Given the description of an element on the screen output the (x, y) to click on. 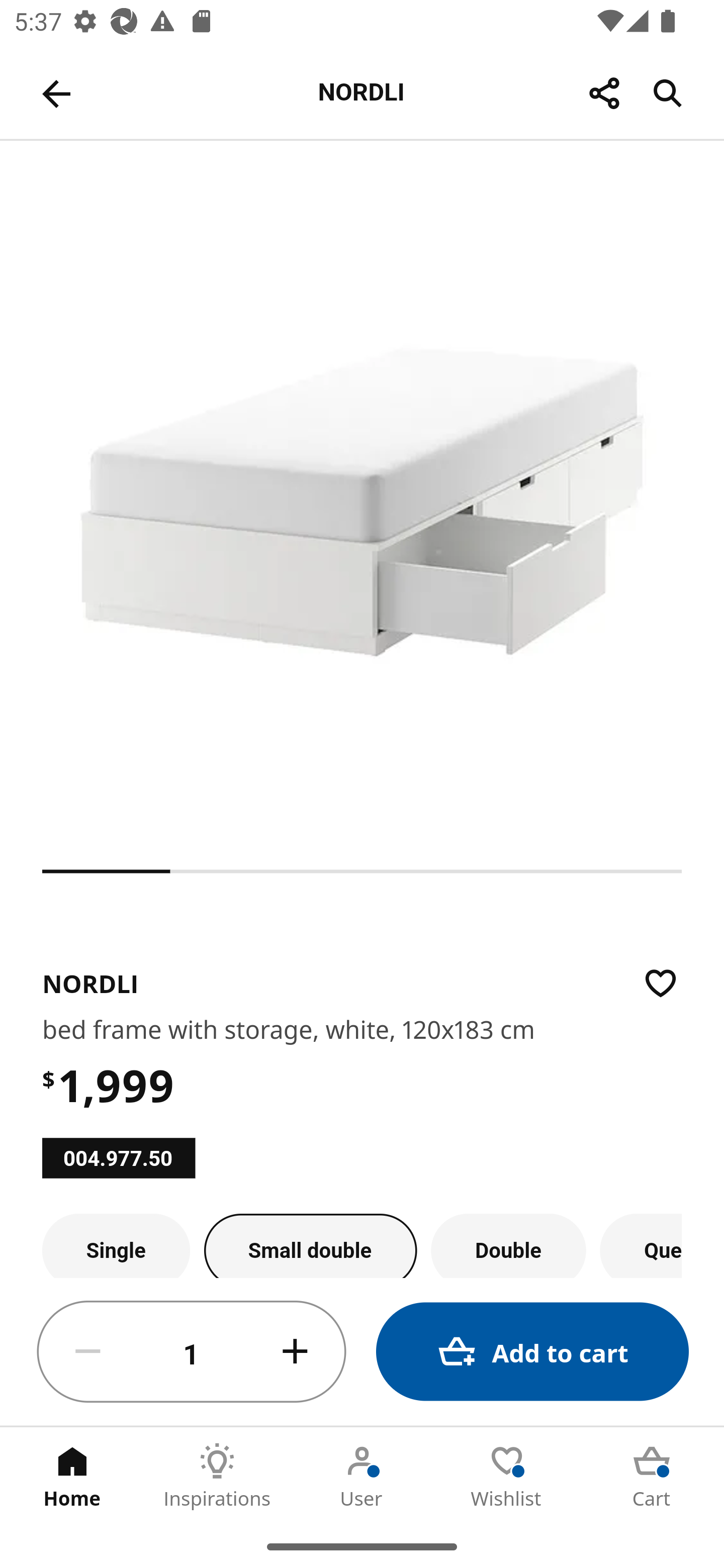
Single (115, 1245)
Small double (310, 1245)
Double (508, 1245)
Add to cart (531, 1352)
1 (191, 1352)
Home
Tab 1 of 5 (72, 1476)
Inspirations
Tab 2 of 5 (216, 1476)
User
Tab 3 of 5 (361, 1476)
Wishlist
Tab 4 of 5 (506, 1476)
Cart
Tab 5 of 5 (651, 1476)
